Given the description of an element on the screen output the (x, y) to click on. 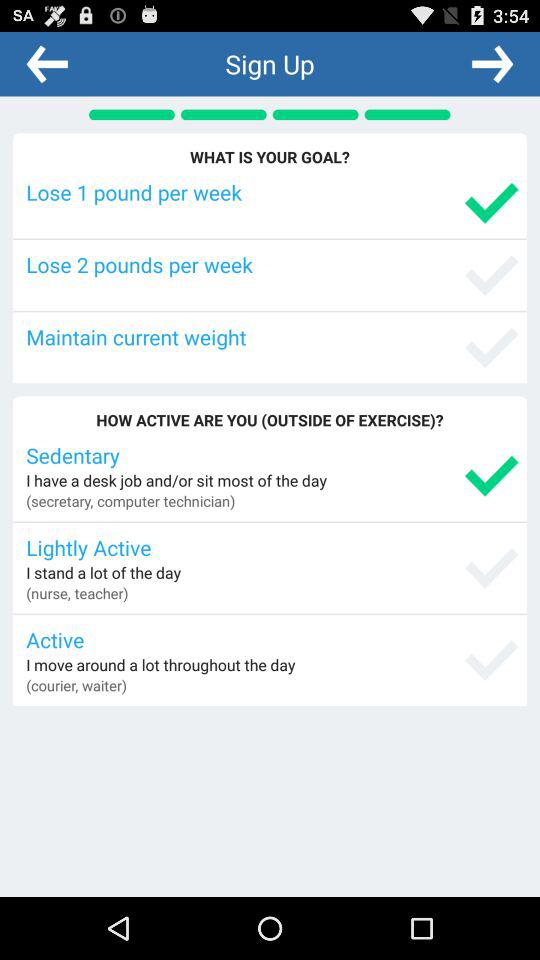
next page (492, 63)
